Given the description of an element on the screen output the (x, y) to click on. 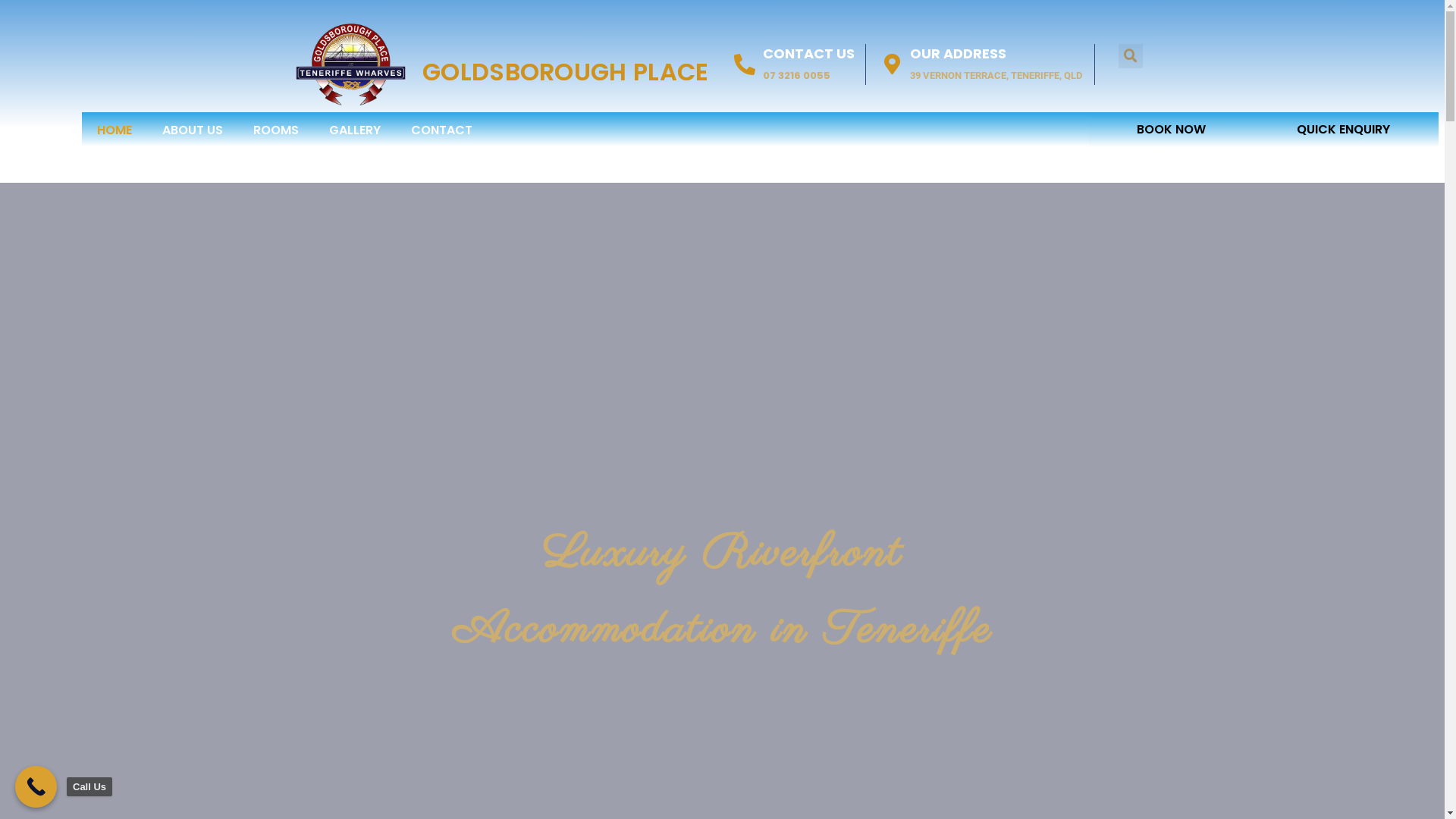
BOOK NOW Element type: text (1170, 129)
HOME Element type: text (114, 129)
QUICK ENQUIRY Element type: text (1346, 129)
ABOUT US Element type: text (192, 129)
CONTACT Element type: text (441, 129)
ROOMS Element type: text (275, 129)
GALLERY Element type: text (354, 129)
Call Us Element type: text (35, 786)
